Given the description of an element on the screen output the (x, y) to click on. 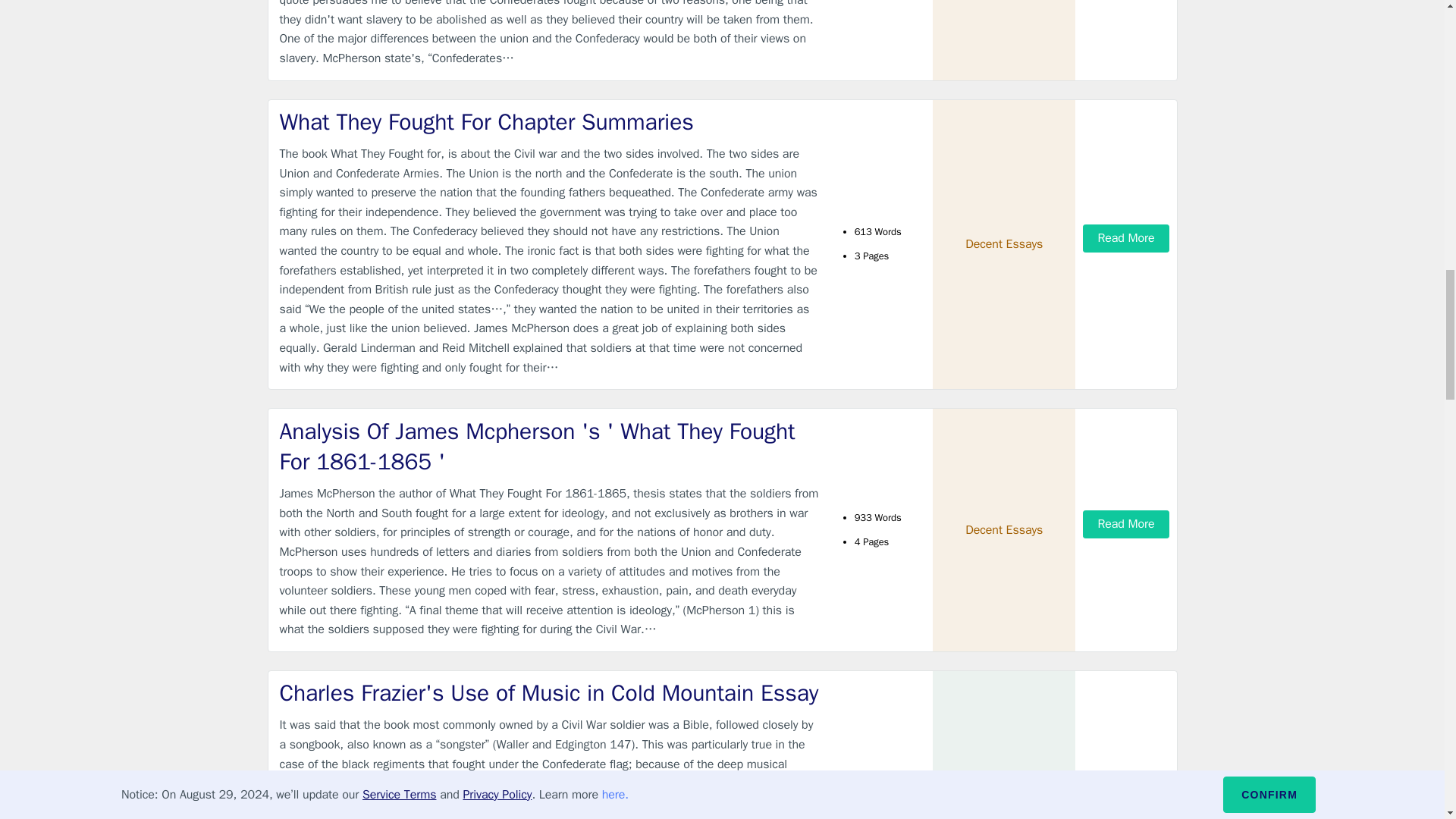
Charles Frazier's Use of Music in Cold Mountain Essay (548, 693)
Read More (1126, 800)
Read More (1126, 524)
What They Fought For Chapter Summaries (548, 122)
Read More (1126, 238)
